Given the description of an element on the screen output the (x, y) to click on. 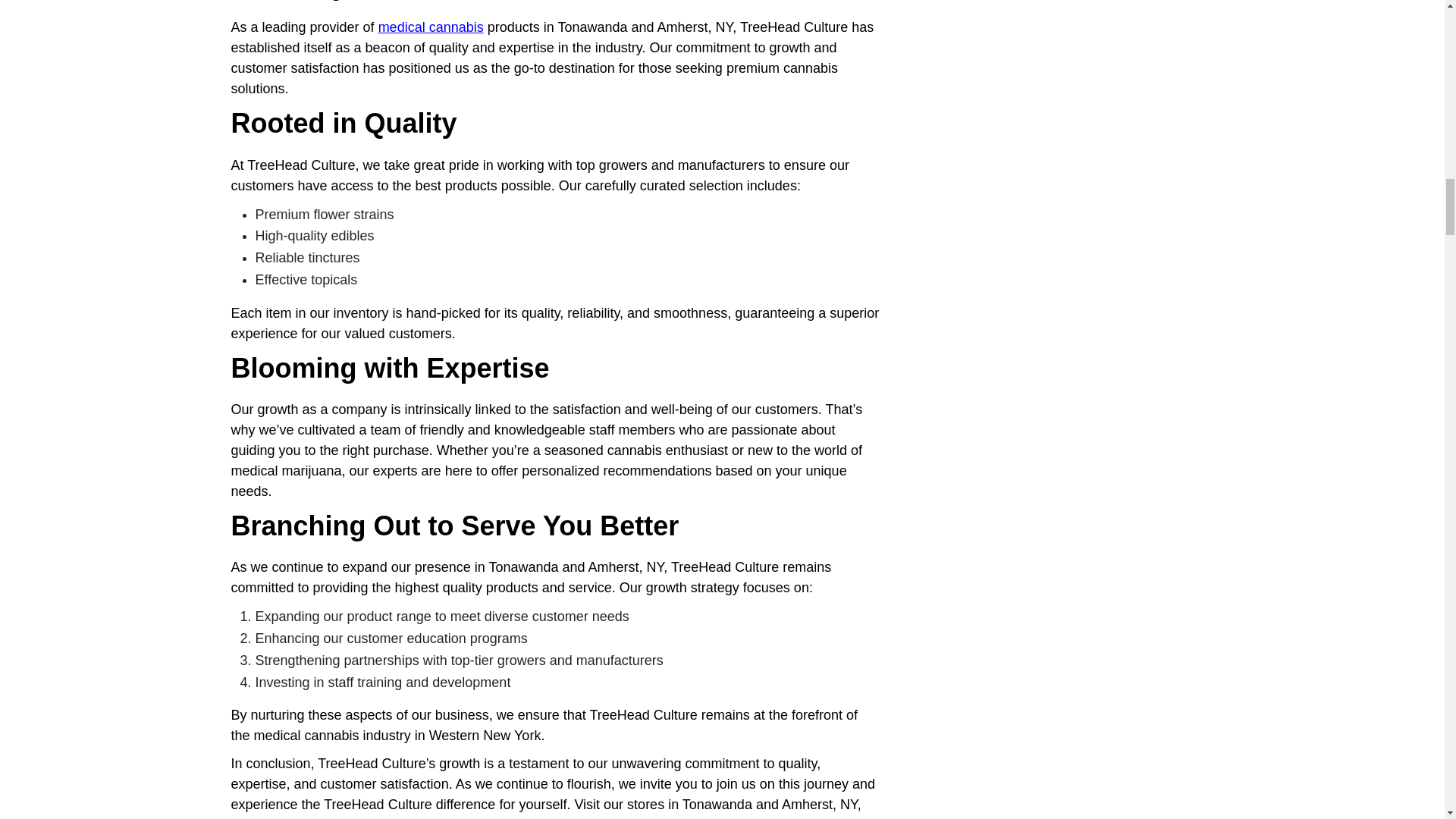
medical cannabis (430, 27)
